Given the description of an element on the screen output the (x, y) to click on. 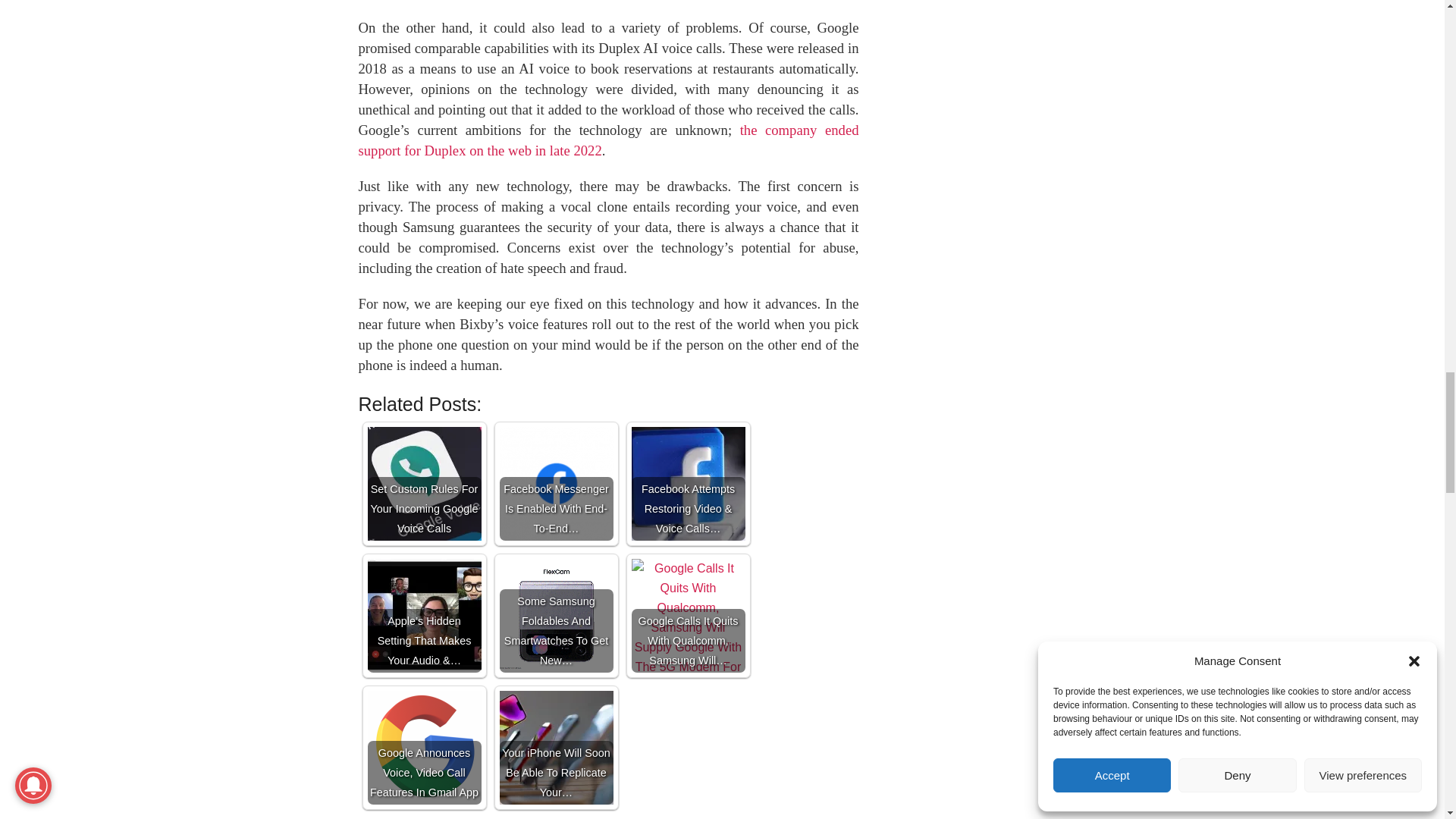
Google Announces Voice, Video Call Features In Gmail App (423, 747)
the company ended support for Duplex on the web in late 2022 (608, 140)
Set Custom Rules For Your Incoming Google Voice Calls (423, 483)
Set Custom Rules For Your Incoming Google Voice Calls (423, 483)
